Given the description of an element on the screen output the (x, y) to click on. 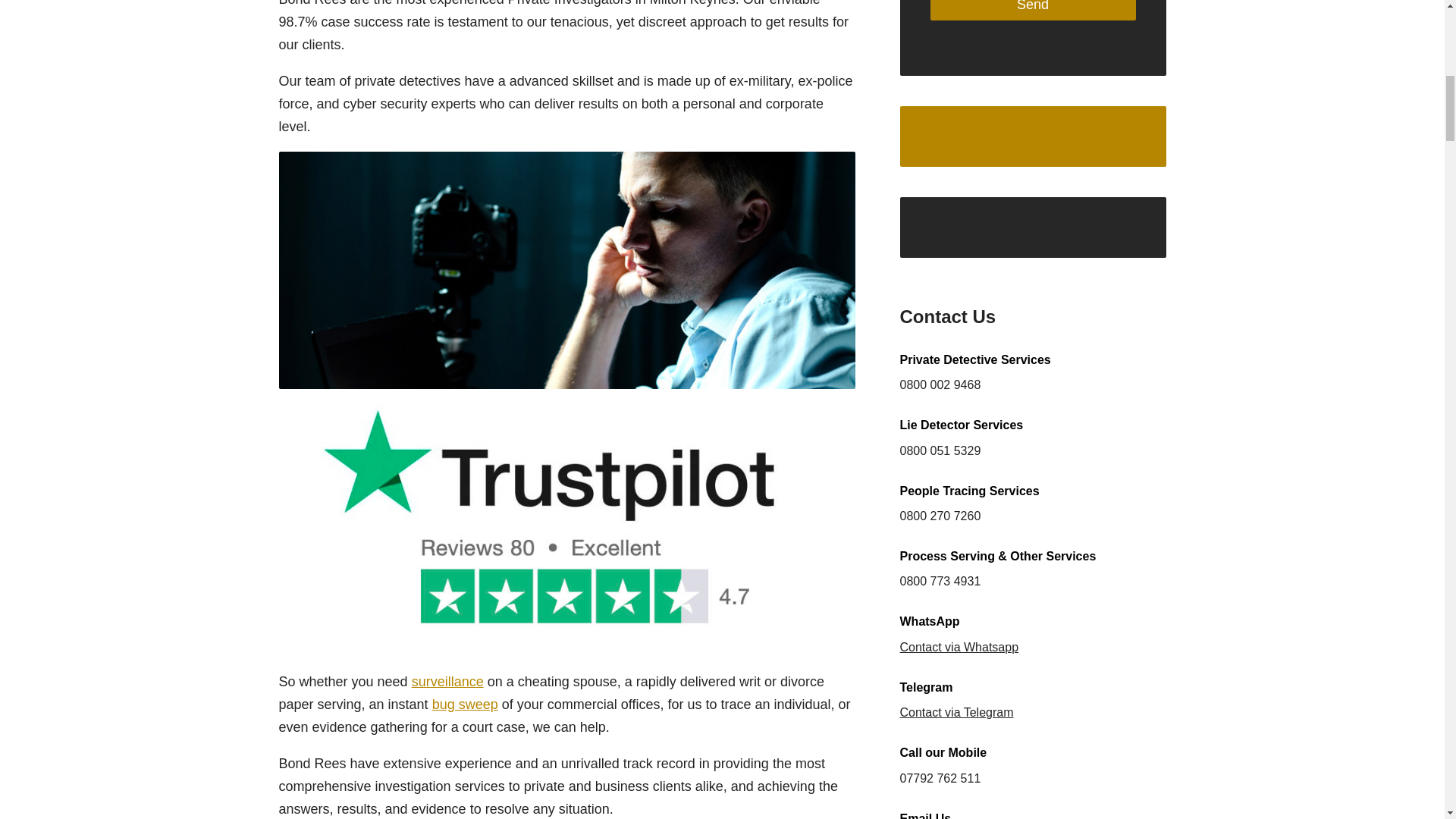
Send (1032, 10)
bug sweep (464, 703)
surveillance (447, 681)
